Given the description of an element on the screen output the (x, y) to click on. 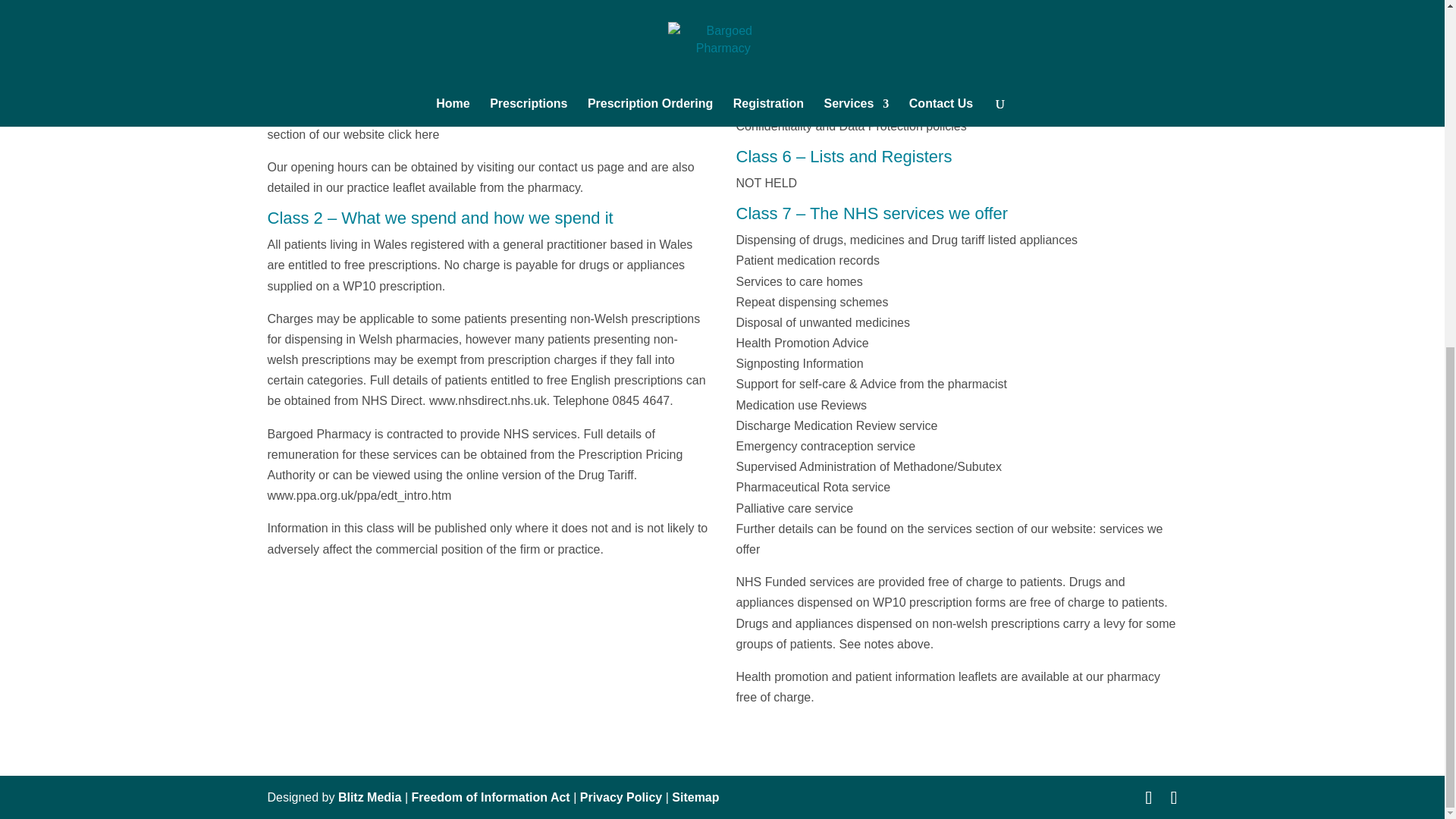
Sitemap (695, 797)
Freedom of Information Act (489, 797)
Blitz Media (369, 797)
Privacy Policy (620, 797)
